Given the description of an element on the screen output the (x, y) to click on. 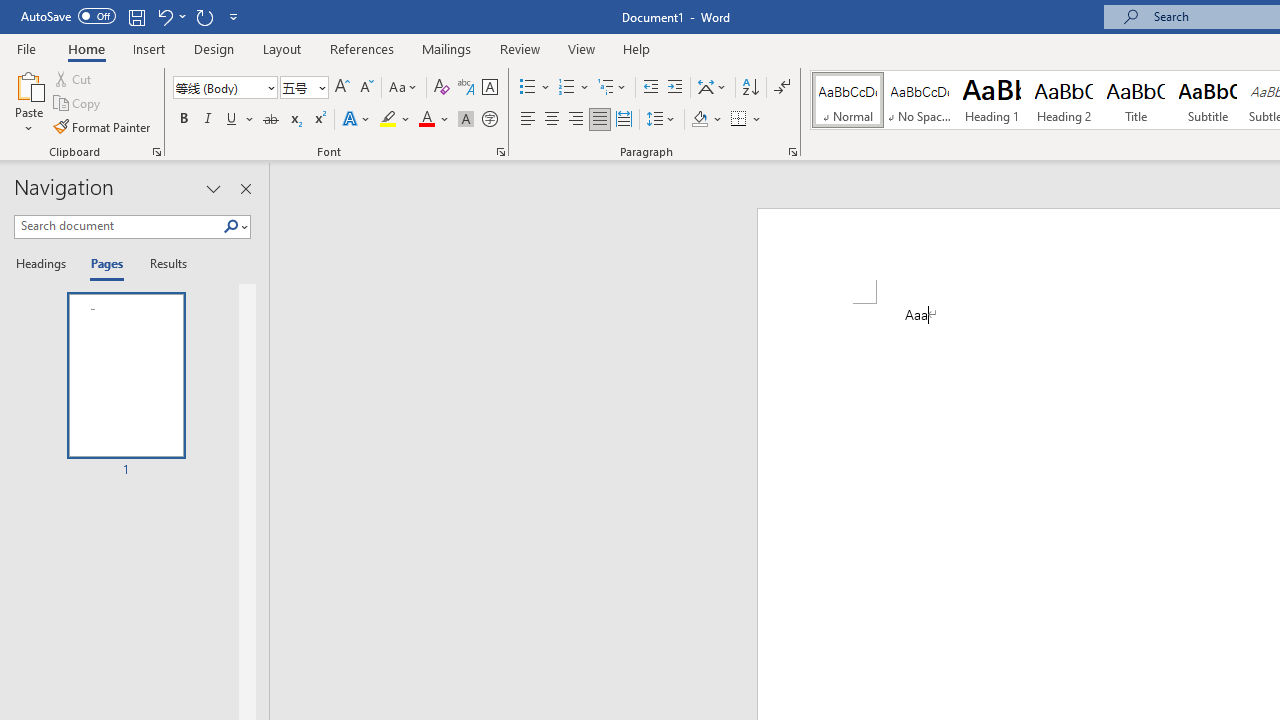
Cut (73, 78)
AutoSave (68, 16)
View (582, 48)
Heading 2 (1063, 100)
Subscript (294, 119)
Layout (282, 48)
Copy (78, 103)
Clear Formatting (442, 87)
Italic (207, 119)
Shrink Font (365, 87)
Line and Paragraph Spacing (661, 119)
